Given the description of an element on the screen output the (x, y) to click on. 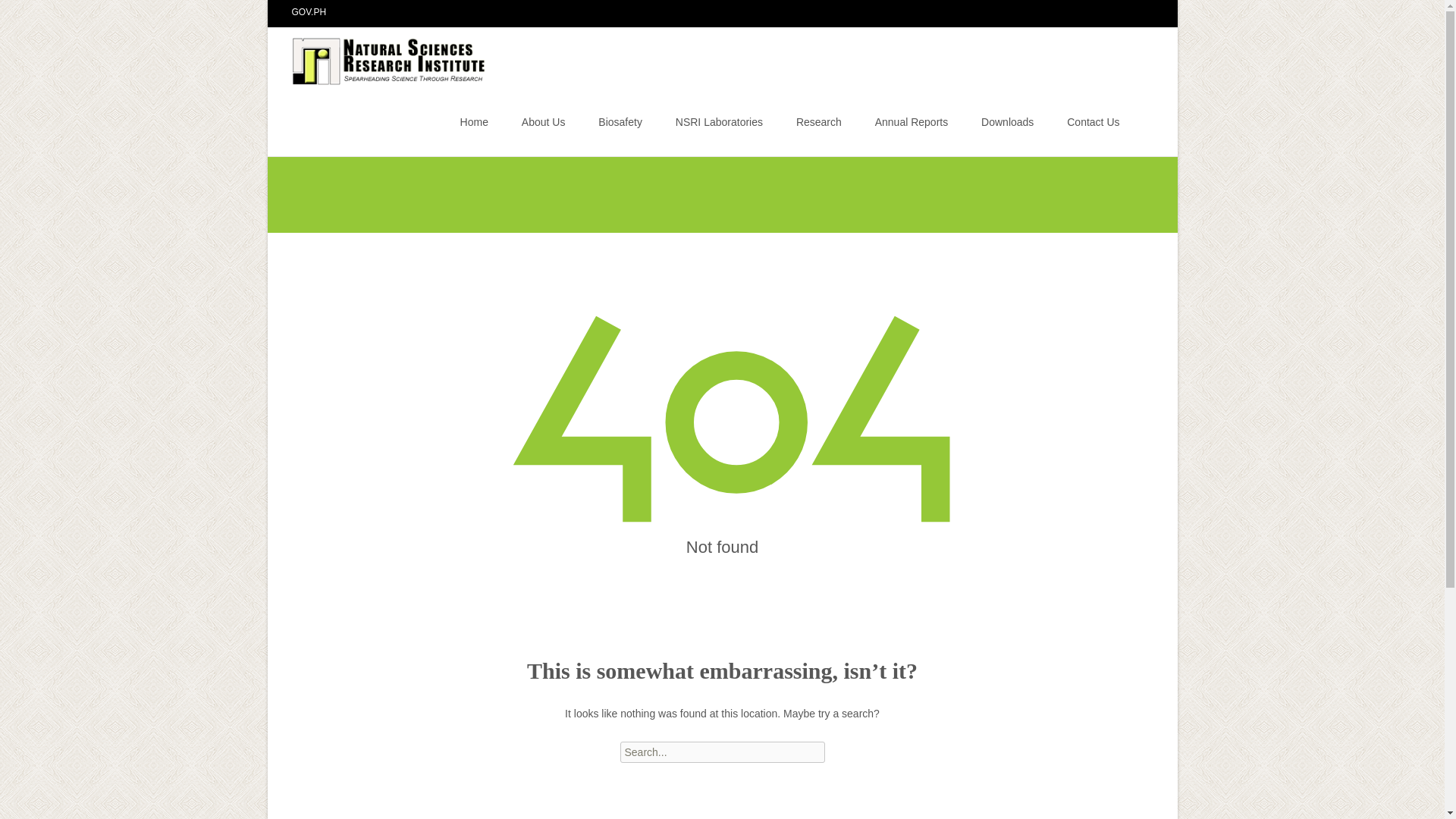
Search (18, 14)
Search for: (722, 752)
Search (34, 14)
Natural Sciences Research Institute (378, 57)
Annual Reports (912, 121)
NSRI Laboratories (718, 121)
GOV.PH (308, 11)
Search for: (1139, 123)
